Given the description of an element on the screen output the (x, y) to click on. 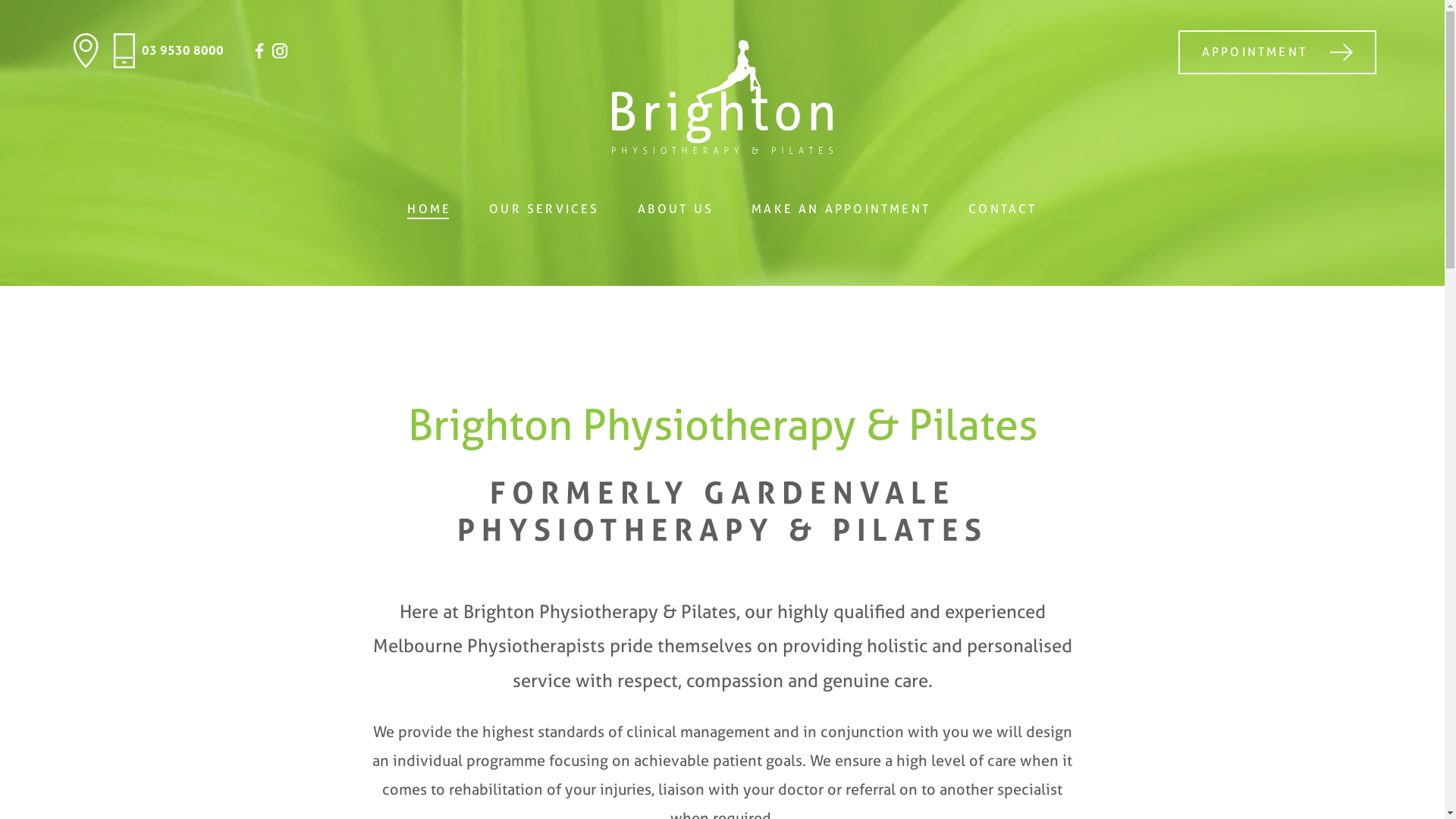
Brighton Physiotherapy & Pilates on Instagram Element type: hover (279, 50)
HOME Element type: text (429, 208)
ABOUT US Element type: text (675, 208)
MAKE AN APPOINTMENT Element type: text (840, 208)
OUR SERVICES Element type: text (544, 208)
CONTACT Element type: text (1002, 208)
Brighton Physiotherapy & Pilates on Facebook Element type: hover (258, 50)
Brighton Physiotherapy & Pilates location Element type: hover (85, 50)
APPOINTMENT Element type: text (1277, 52)
03 9530 8000 Element type: text (164, 50)
